Given the description of an element on the screen output the (x, y) to click on. 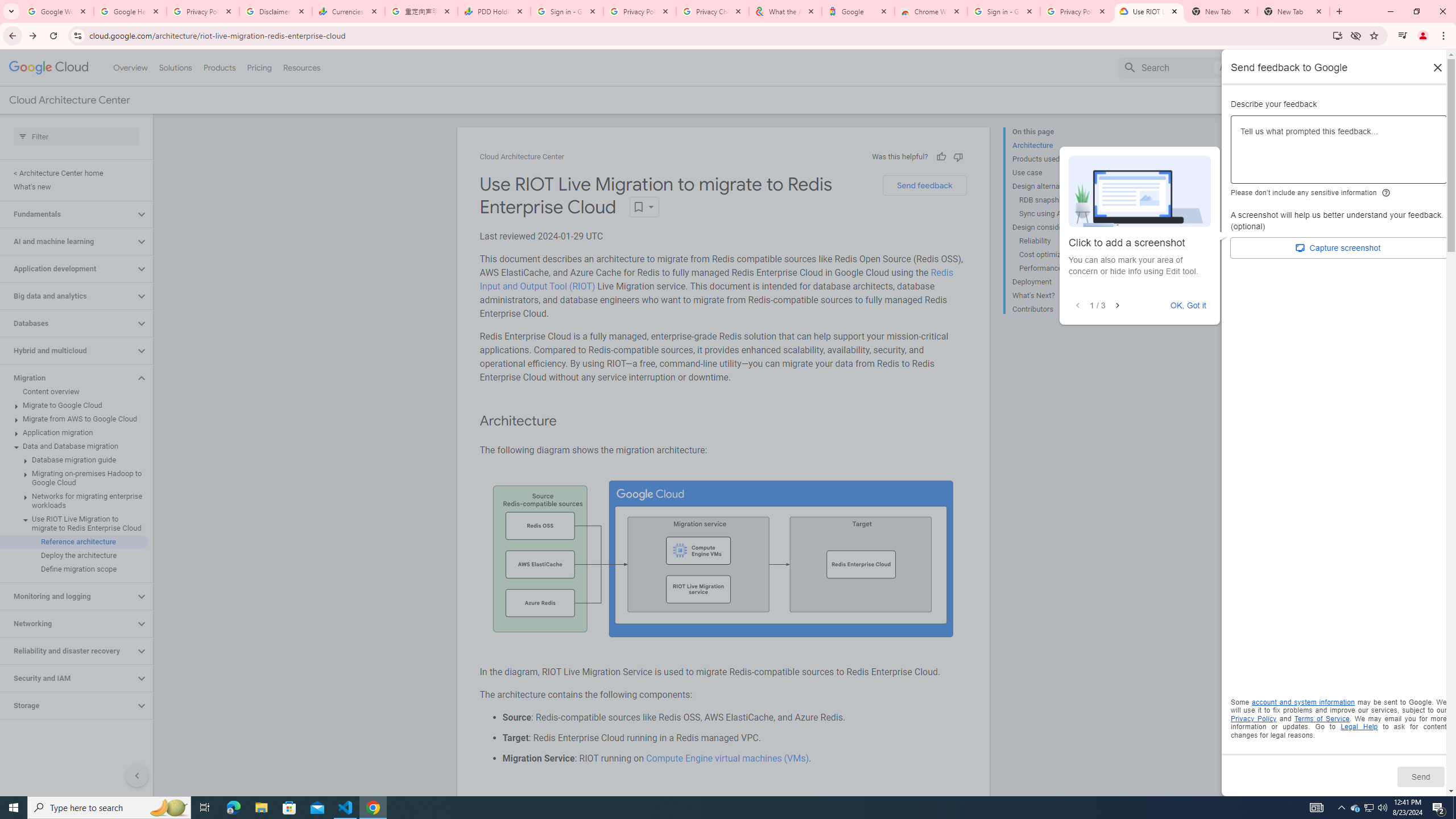
Hybrid and multicloud (67, 350)
Google Cloud (48, 67)
Install Google Cloud (1336, 35)
Not helpful (957, 156)
Networks for migrating enterprise workloads (74, 500)
Capture screenshot (1338, 247)
Reliability and disaster recovery (67, 650)
Deploy the architecture (74, 555)
Opens in a new tab. Privacy Policy (1253, 718)
English (1359, 67)
Databases (67, 323)
